Given the description of an element on the screen output the (x, y) to click on. 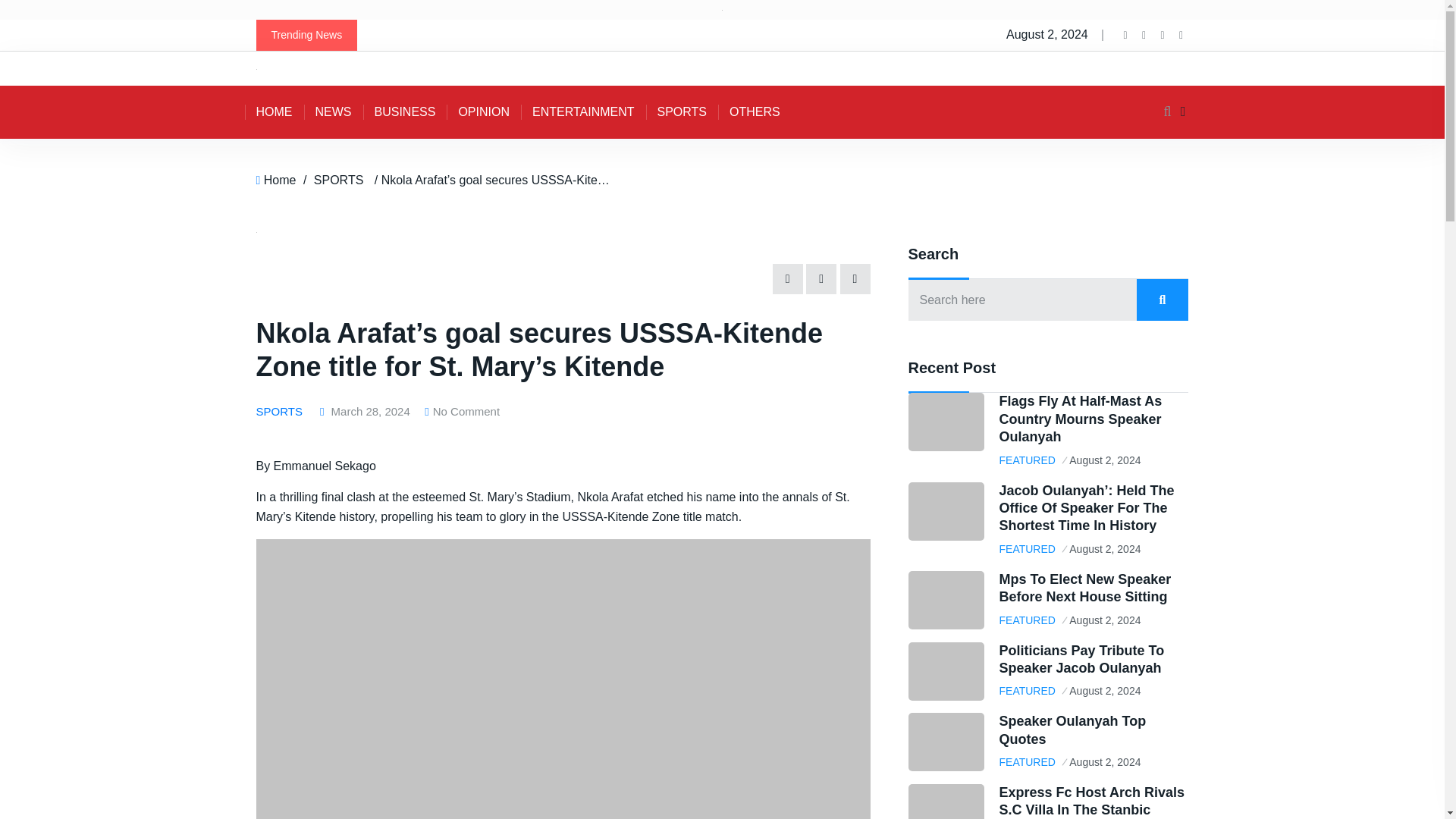
OPINION (483, 111)
ENTERTAINMENT (583, 111)
HOME (273, 111)
NEWS (332, 111)
BUSINESS (404, 111)
SPORTS (682, 111)
